Given the description of an element on the screen output the (x, y) to click on. 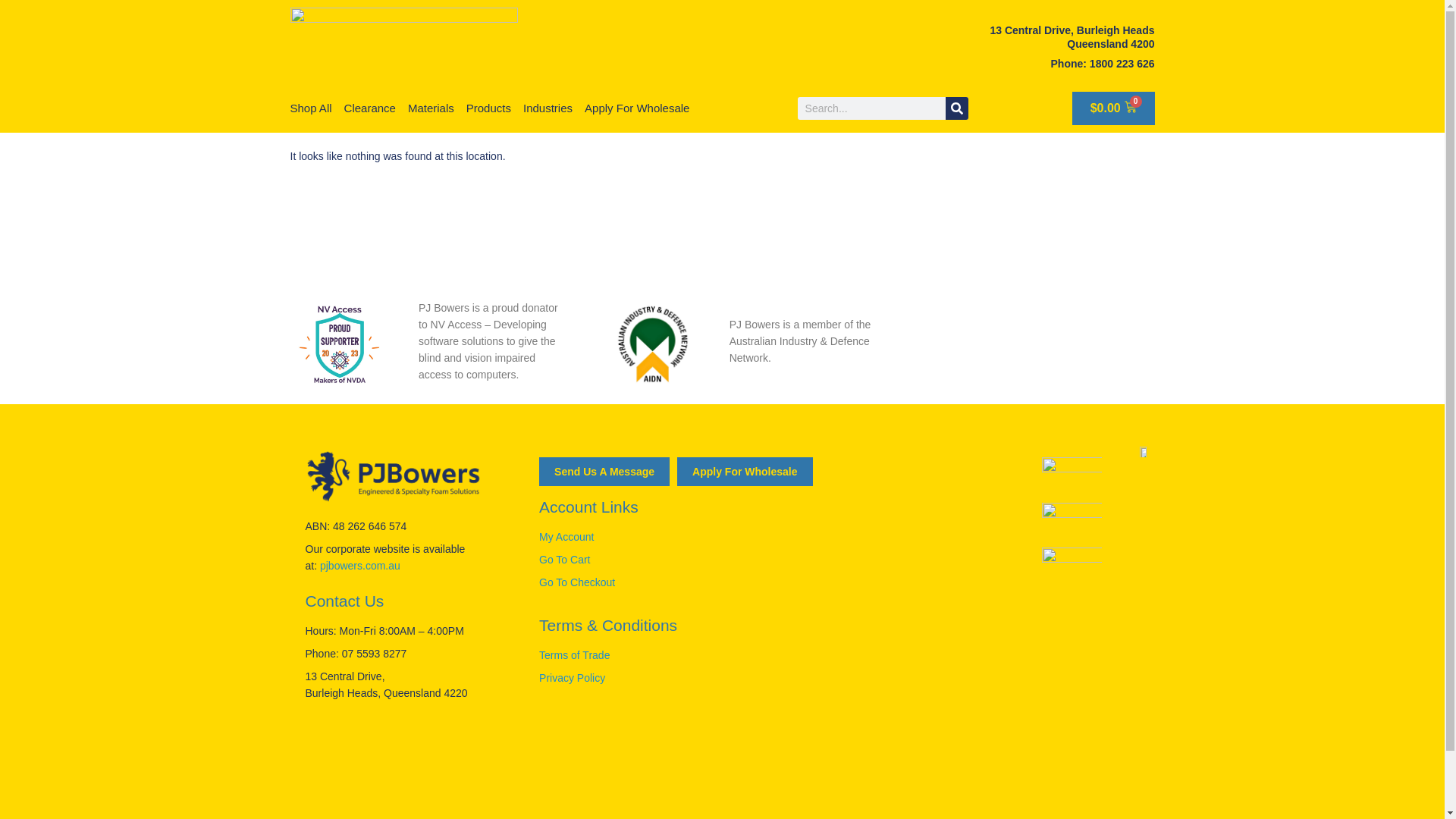
Apply For Wholesale (636, 107)
Industries (547, 107)
Shop All (310, 107)
Materials (430, 107)
Products (488, 107)
Clearance (369, 107)
